Given the description of an element on the screen output the (x, y) to click on. 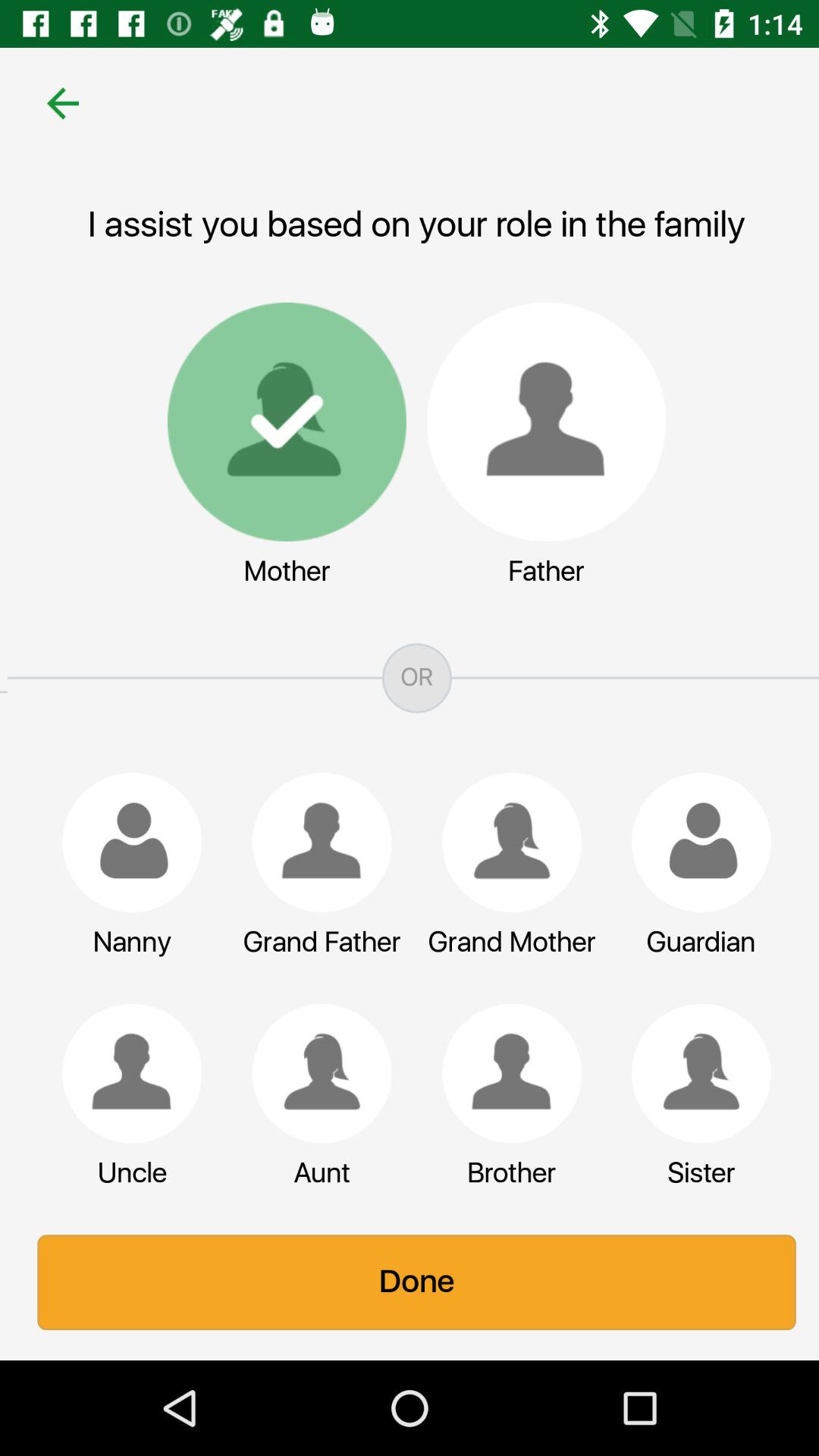
select/deselect mother (279, 421)
